Given the description of an element on the screen output the (x, y) to click on. 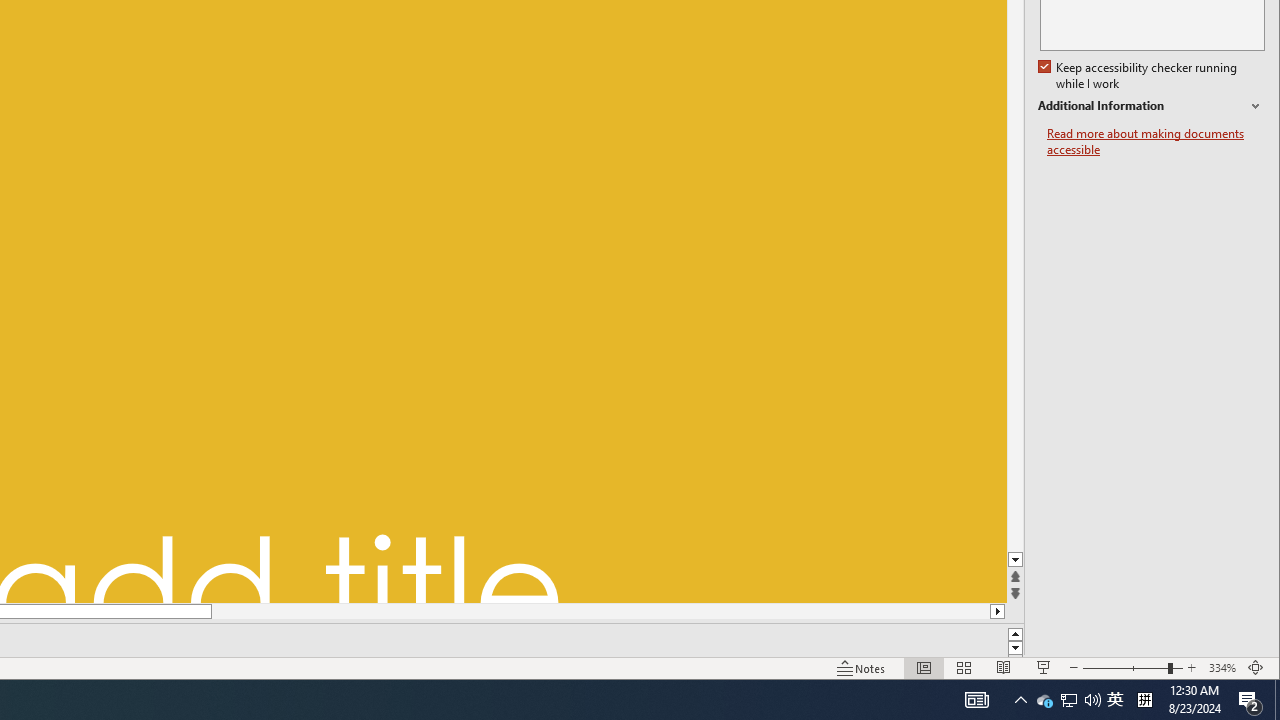
Zoom 334% (1222, 668)
